Given the description of an element on the screen output the (x, y) to click on. 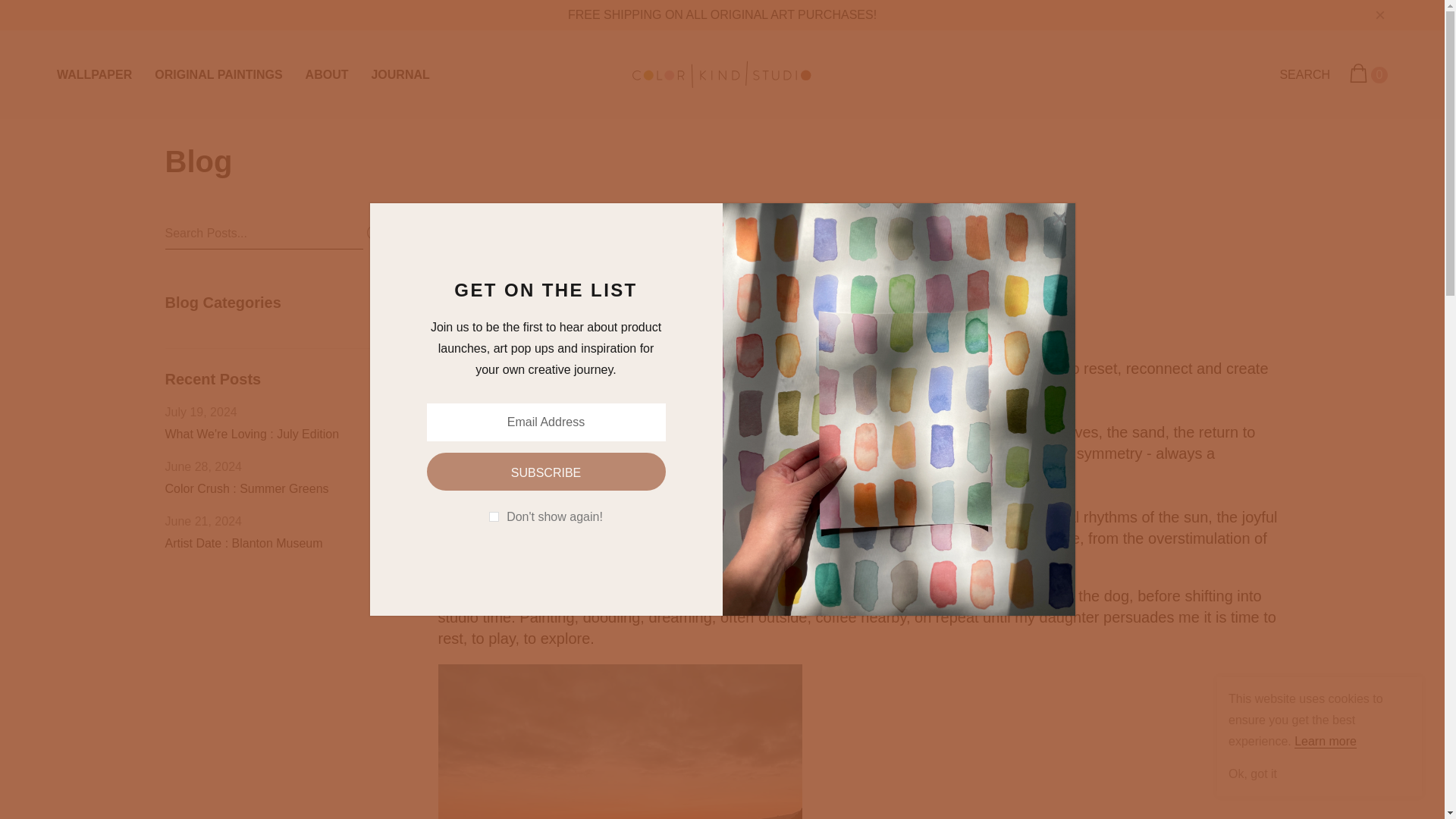
Subscribe (545, 471)
ABOUT (327, 74)
0 (1368, 74)
JOURNAL (400, 74)
Ease Collection : Our December Art Drop (615, 255)
WALLPAPER (94, 74)
Color Crush : Summer Greens (247, 488)
ORIGINAL PAINTINGS (218, 74)
Artist Date : Blanton Museum (244, 543)
SEARCH (1304, 74)
